Given the description of an element on the screen output the (x, y) to click on. 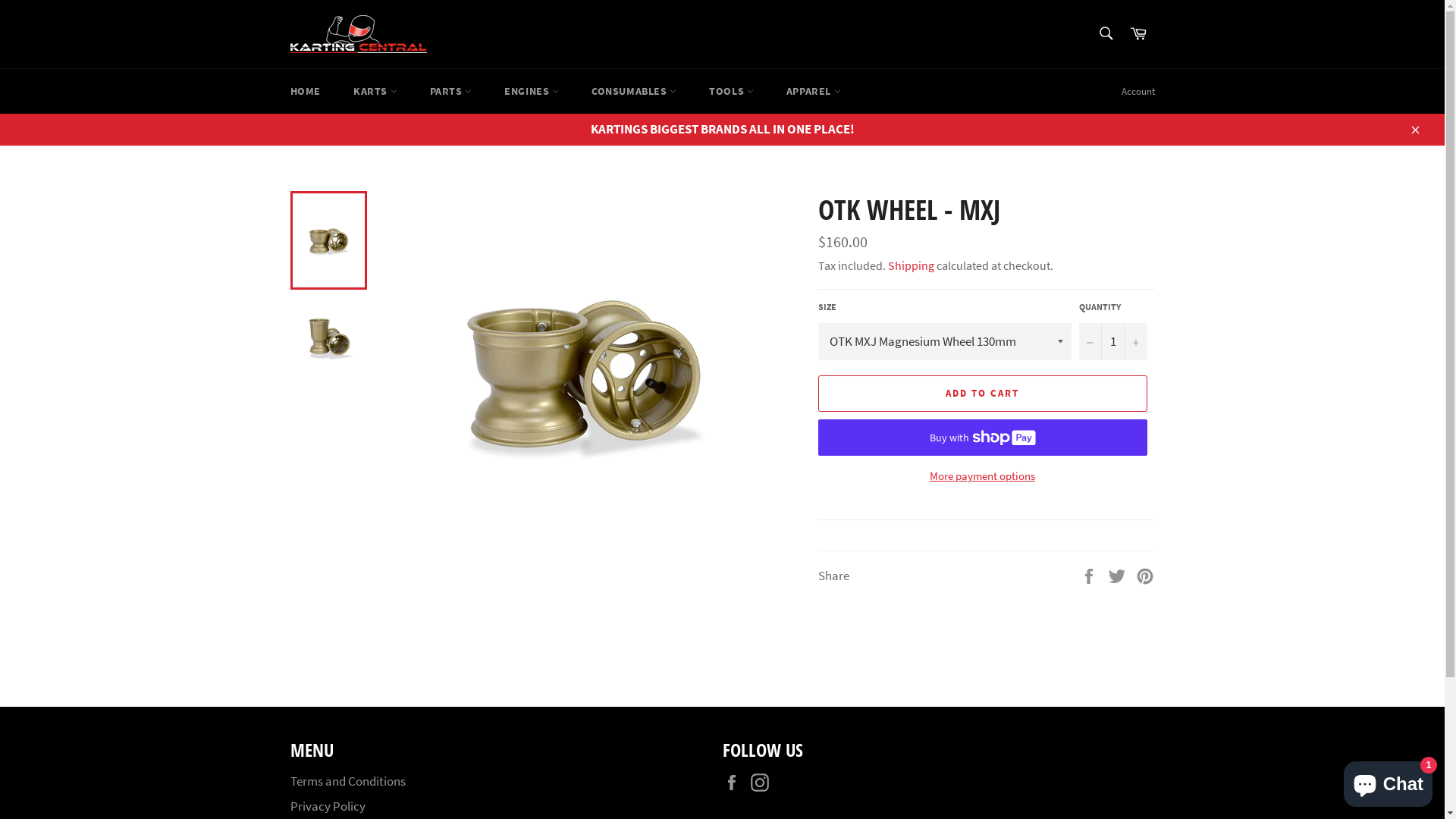
TOOLS Element type: text (730, 91)
Close Element type: text (1414, 128)
CONSUMABLES Element type: text (633, 91)
APPAREL Element type: text (813, 91)
Instagram Element type: text (763, 781)
Search Element type: text (1105, 32)
KARTS Element type: text (375, 91)
Pin on Pinterest Element type: text (1144, 574)
Facebook Element type: text (734, 781)
Share on Facebook Element type: text (1089, 574)
ENGINES Element type: text (531, 91)
+ Element type: text (1134, 341)
Tweet on Twitter Element type: text (1117, 574)
Account Element type: text (1137, 91)
HOME Element type: text (304, 91)
Privacy Policy Element type: text (326, 805)
More payment options Element type: text (981, 476)
Shipping Element type: text (910, 265)
Shopify online store chat Element type: hover (1388, 780)
ADD TO CART Element type: text (981, 393)
PARTS Element type: text (450, 91)
Cart Element type: text (1138, 33)
Terms and Conditions Element type: text (346, 780)
